Given the description of an element on the screen output the (x, y) to click on. 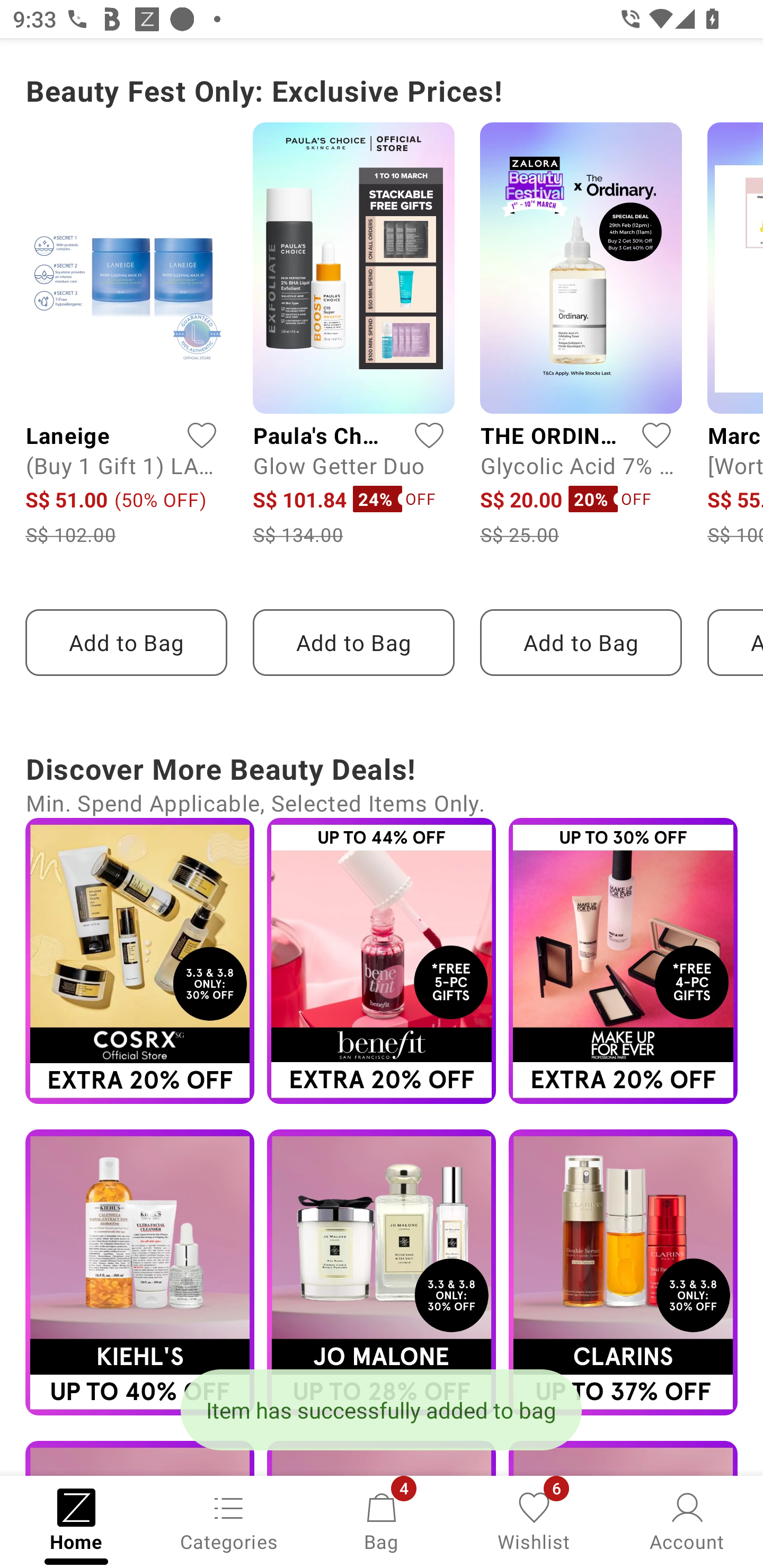
Add to Bag (126, 642)
Add to Bag (353, 642)
Add to Bag (580, 642)
Campaign banner (139, 960)
Campaign banner (381, 960)
Campaign banner (622, 960)
Campaign banner (139, 1271)
Campaign banner (381, 1271)
Campaign banner (622, 1271)
Categories (228, 1519)
Bag, 4 new notifications Bag (381, 1519)
Wishlist, 6 new notifications Wishlist (533, 1519)
Account (686, 1519)
